Given the description of an element on the screen output the (x, y) to click on. 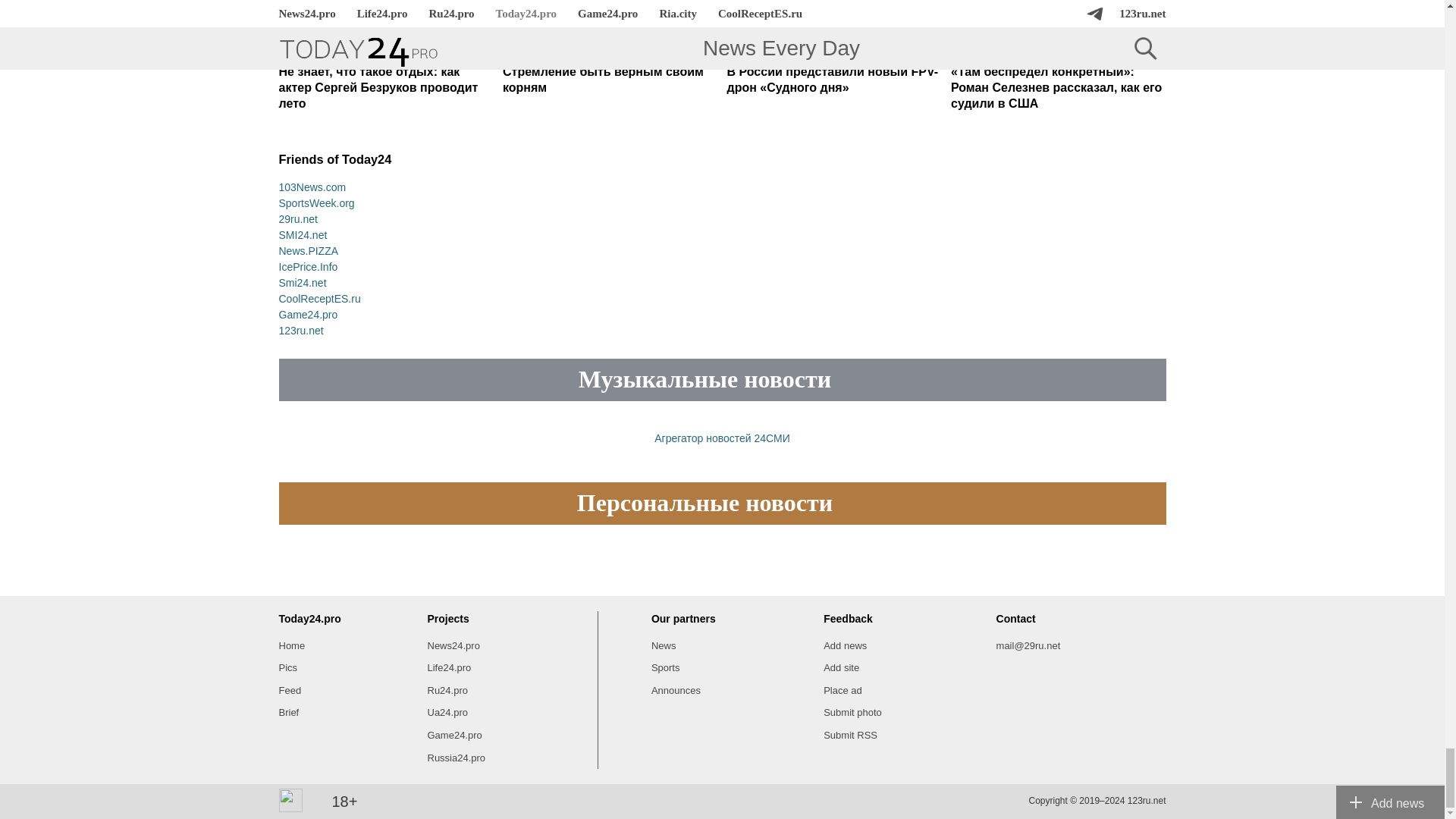
LiveInternet (290, 800)
